Given the description of an element on the screen output the (x, y) to click on. 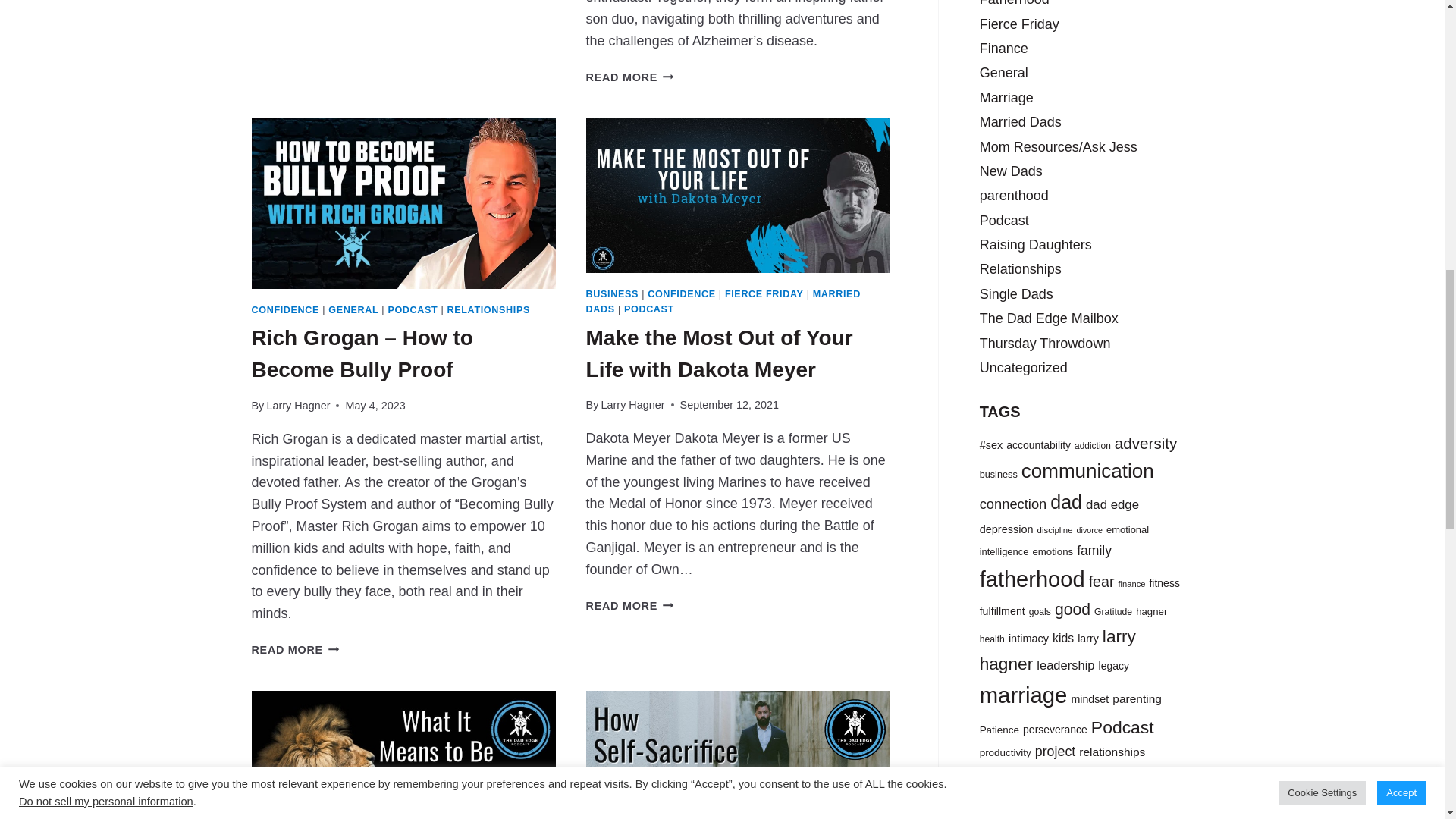
BUSINESS (612, 294)
Larry Hagner (298, 405)
CONFIDENCE (285, 309)
RELATIONSHIPS (487, 309)
GENERAL (353, 309)
PODCAST (412, 309)
